Given the description of an element on the screen output the (x, y) to click on. 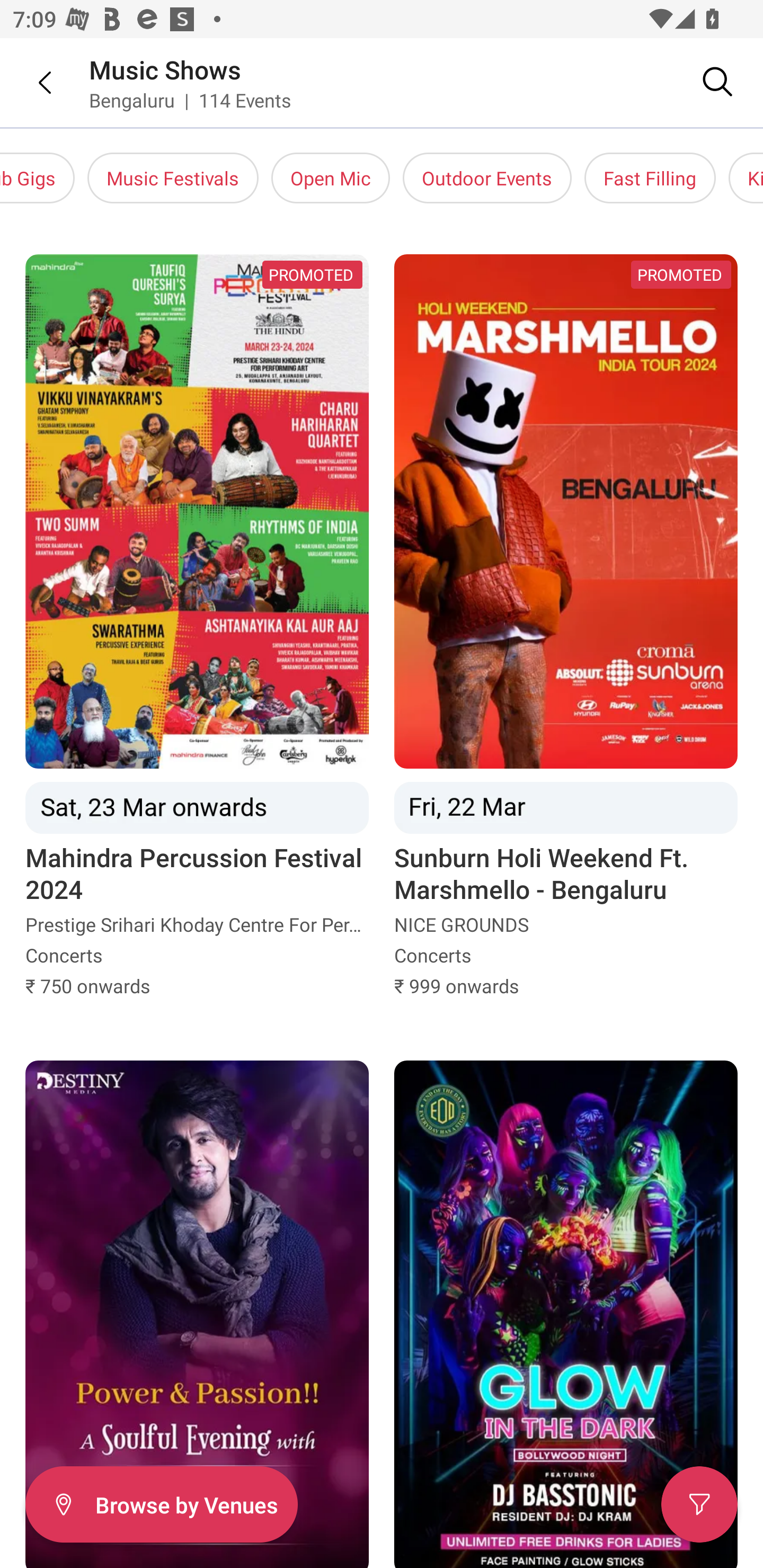
Back (31, 82)
Music Shows (165, 68)
Bengaluru  |  114 Events (190, 99)
Music Festivals (172, 177)
Open Mic (330, 177)
Outdoor Events (486, 177)
Fast Filling (649, 177)
Filter Browse by Venues (161, 1504)
Filter (699, 1504)
